Given the description of an element on the screen output the (x, y) to click on. 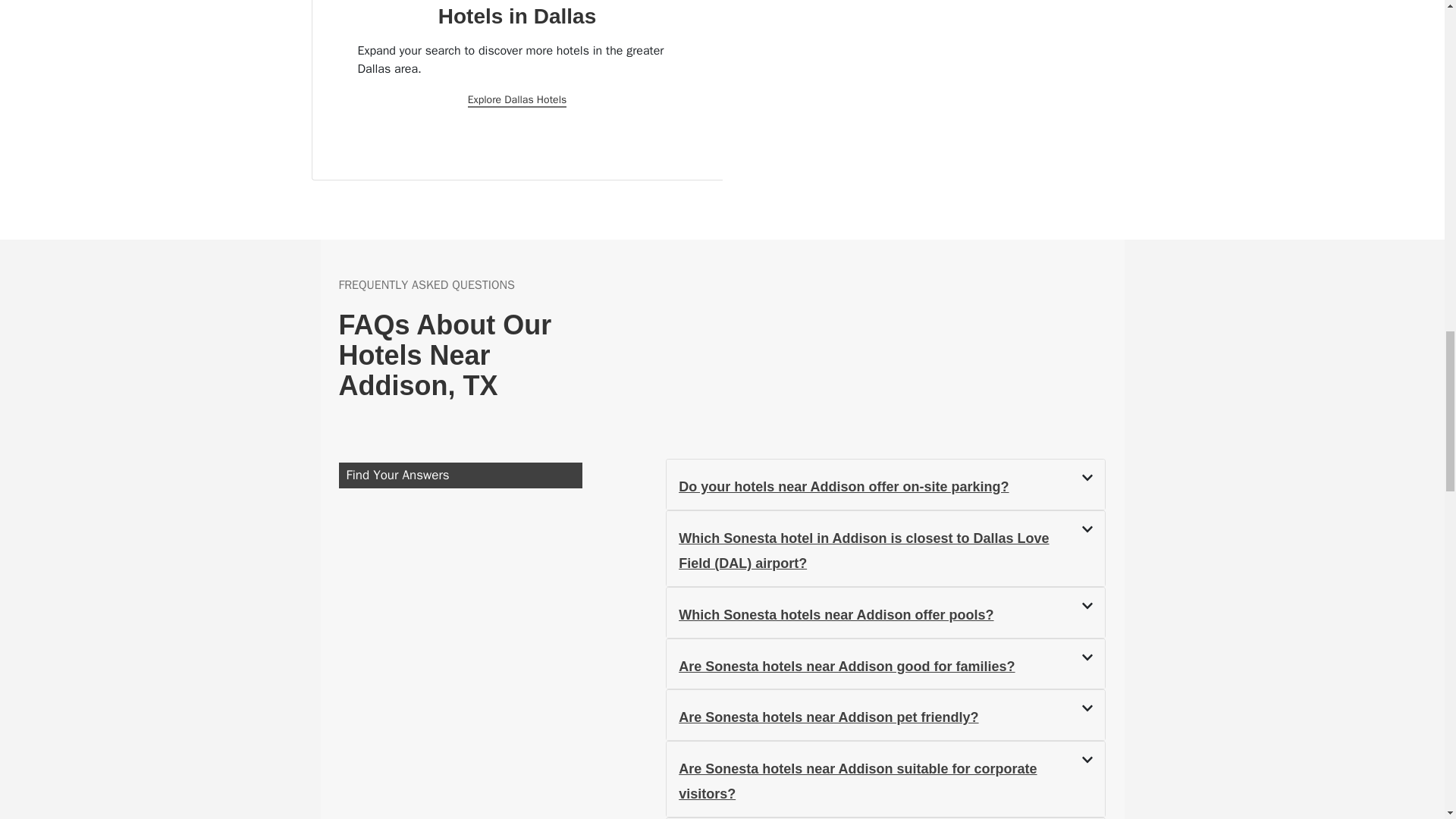
Explore Dallas Hotels (517, 100)
Are Sonesta hotels near Addison good for families? (846, 666)
Which Sonesta hotels near Addison offer pools? (835, 614)
Find Your Answers (458, 475)
Do your hotels near Addison offer on-site parking? (843, 486)
Are Sonesta hotels near Addison pet friendly? (828, 717)
